Given the description of an element on the screen output the (x, y) to click on. 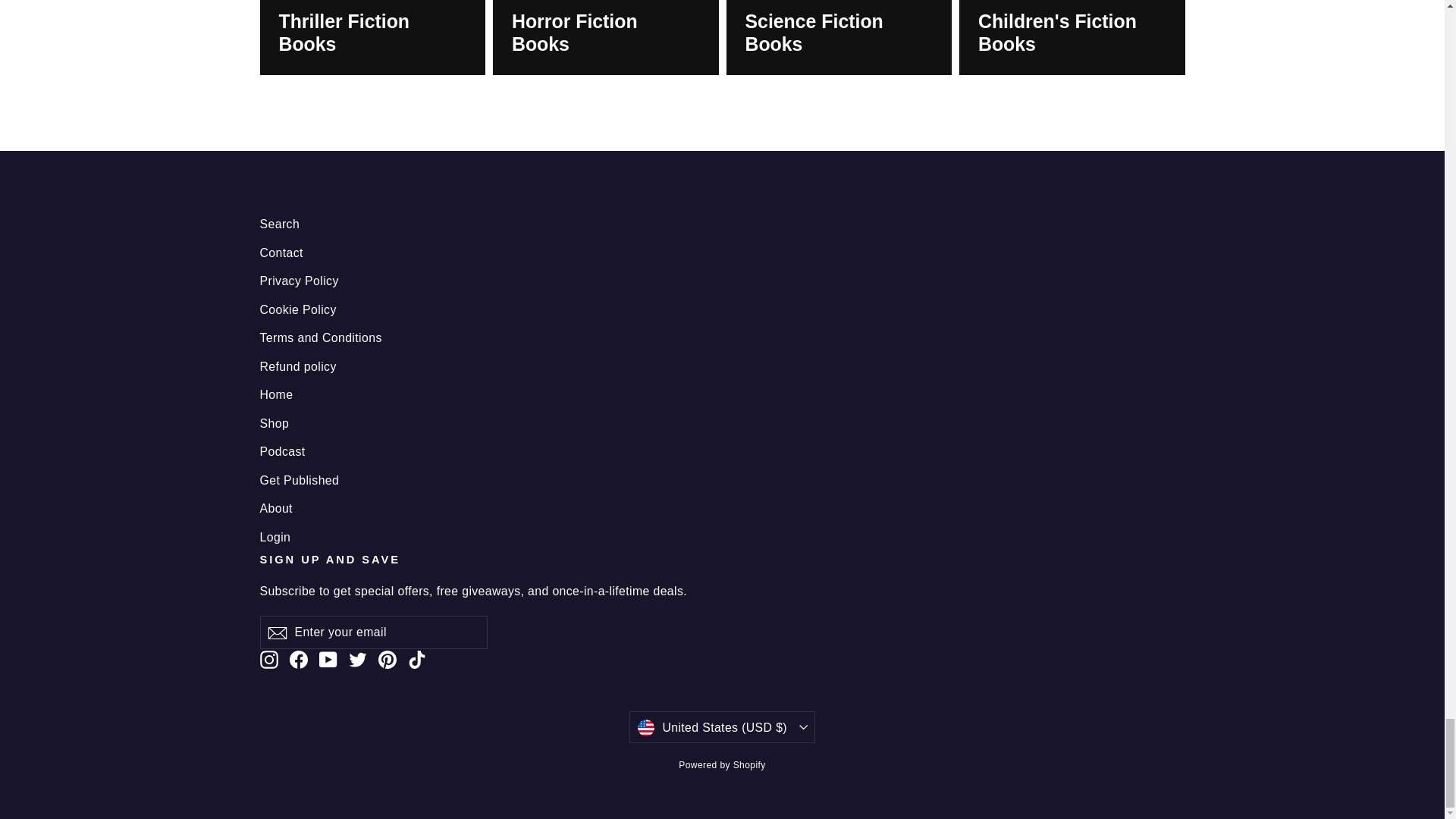
Hangar1publishing on Twitter (357, 659)
instagram (268, 659)
Hangar1publishing on YouTube (327, 659)
icon-email (276, 633)
Hangar1publishing on TikTok (416, 659)
Hangar1publishing on Facebook (298, 659)
twitter (357, 659)
